Given the description of an element on the screen output the (x, y) to click on. 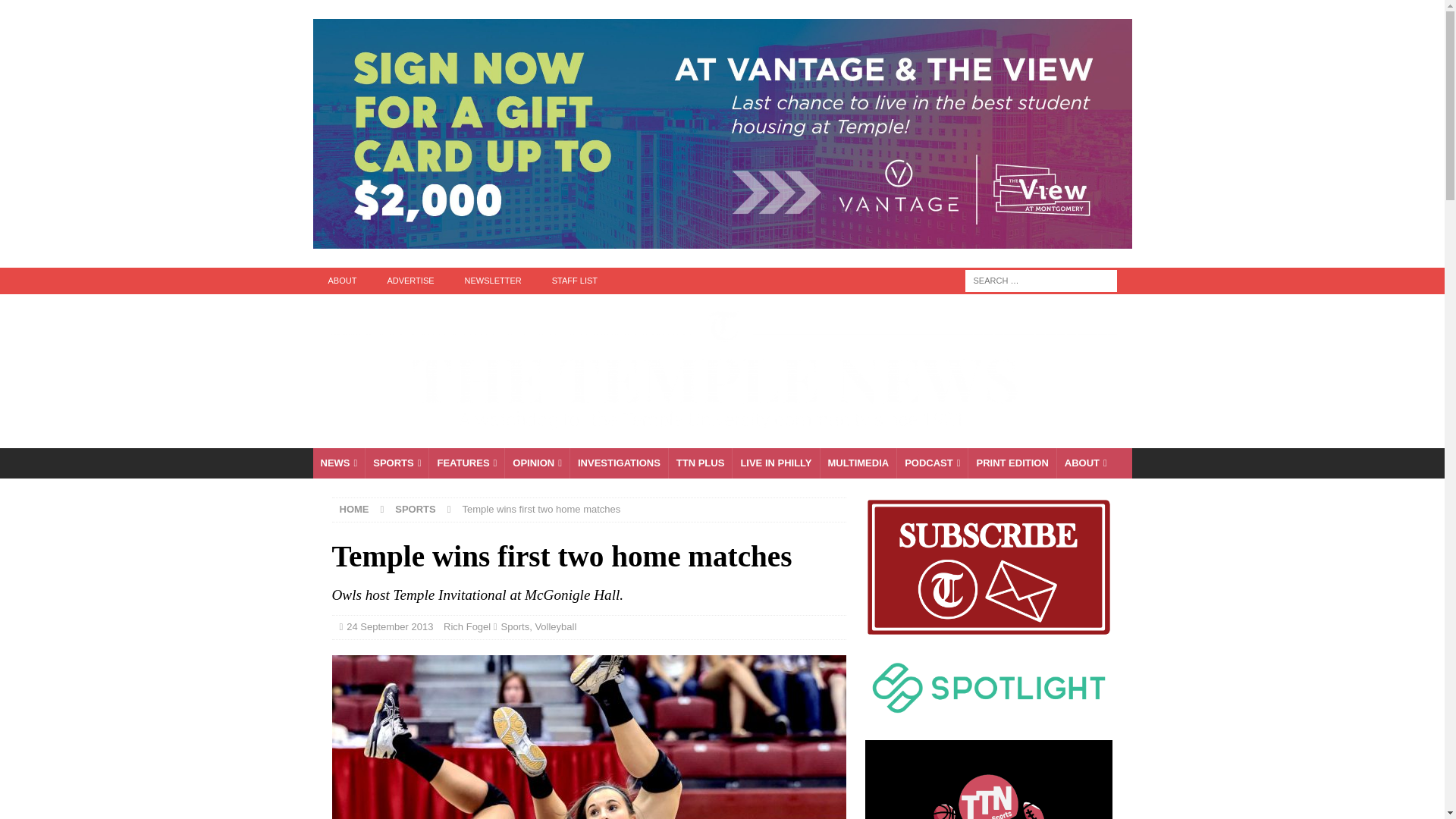
Posts by Rich Fogel (467, 626)
ADVERTISE (409, 280)
ABOUT (342, 280)
Longform (700, 463)
STAFF LIST (574, 280)
Search (56, 11)
NEWSLETTER (493, 280)
